Given the description of an element on the screen output the (x, y) to click on. 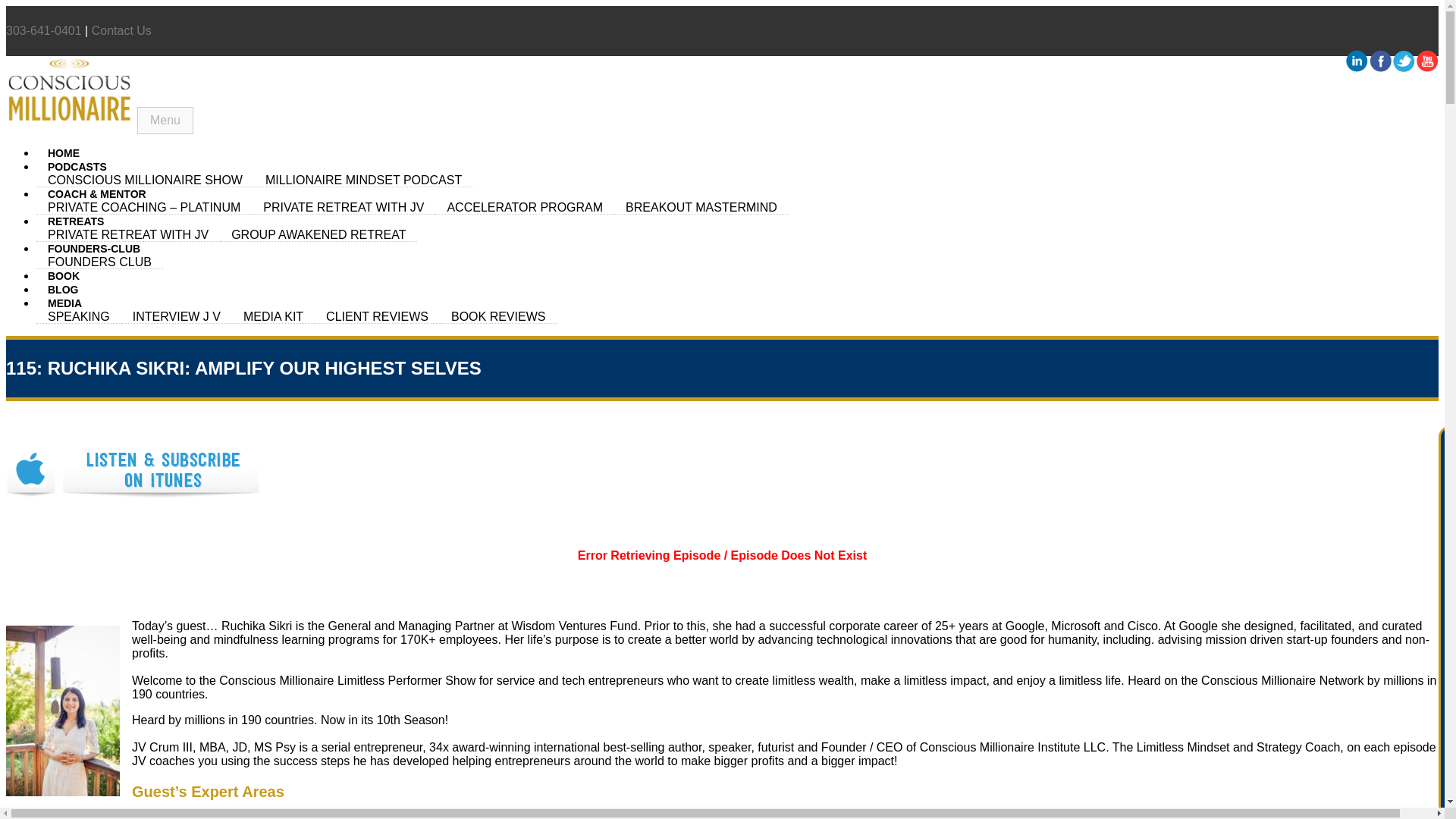
GROUP AWAKENED RETREAT (317, 234)
PRIVATE RETREAT WITH JV (343, 207)
MEDIA KIT (272, 316)
FOUNDERS-CLUB (93, 248)
MILLIONAIRE MINDSET PODCAST (363, 180)
PRIVATE RETREAT WITH JV (127, 234)
CLIENT REVIEWS (376, 316)
INTERVIEW J V (175, 316)
RETREATS (75, 221)
BOOK REVIEWS (497, 316)
BREAKOUT MASTERMIND (701, 207)
PODCASTS (76, 166)
FOUNDERS CLUB (99, 262)
303-641-0401 (43, 30)
Contact Us (121, 30)
